Given the description of an element on the screen output the (x, y) to click on. 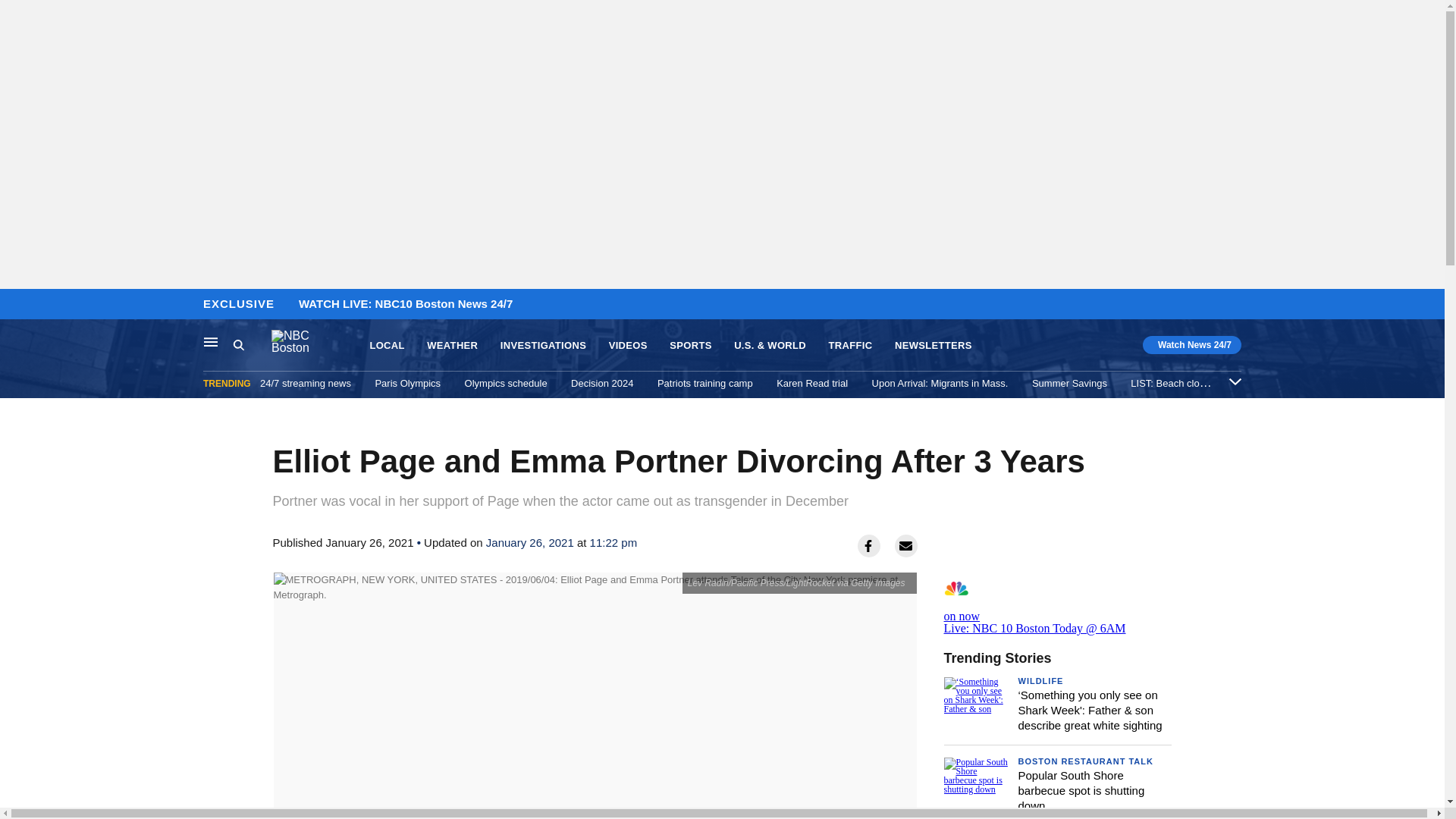
LOCAL (386, 345)
VIDEOS (627, 345)
Paris Olympics (407, 383)
Main Navigation (210, 341)
Skip to content (16, 304)
Karen Read trial (811, 383)
Popular South Shore barbecue spot is shutting down (1080, 791)
Expand (1234, 381)
Olympics schedule (505, 383)
Search (238, 344)
NEWSLETTERS (933, 345)
LIST: Beach closures (1177, 383)
WEATHER (451, 345)
SPORTS (690, 345)
Summer Savings (1069, 383)
